Given the description of an element on the screen output the (x, y) to click on. 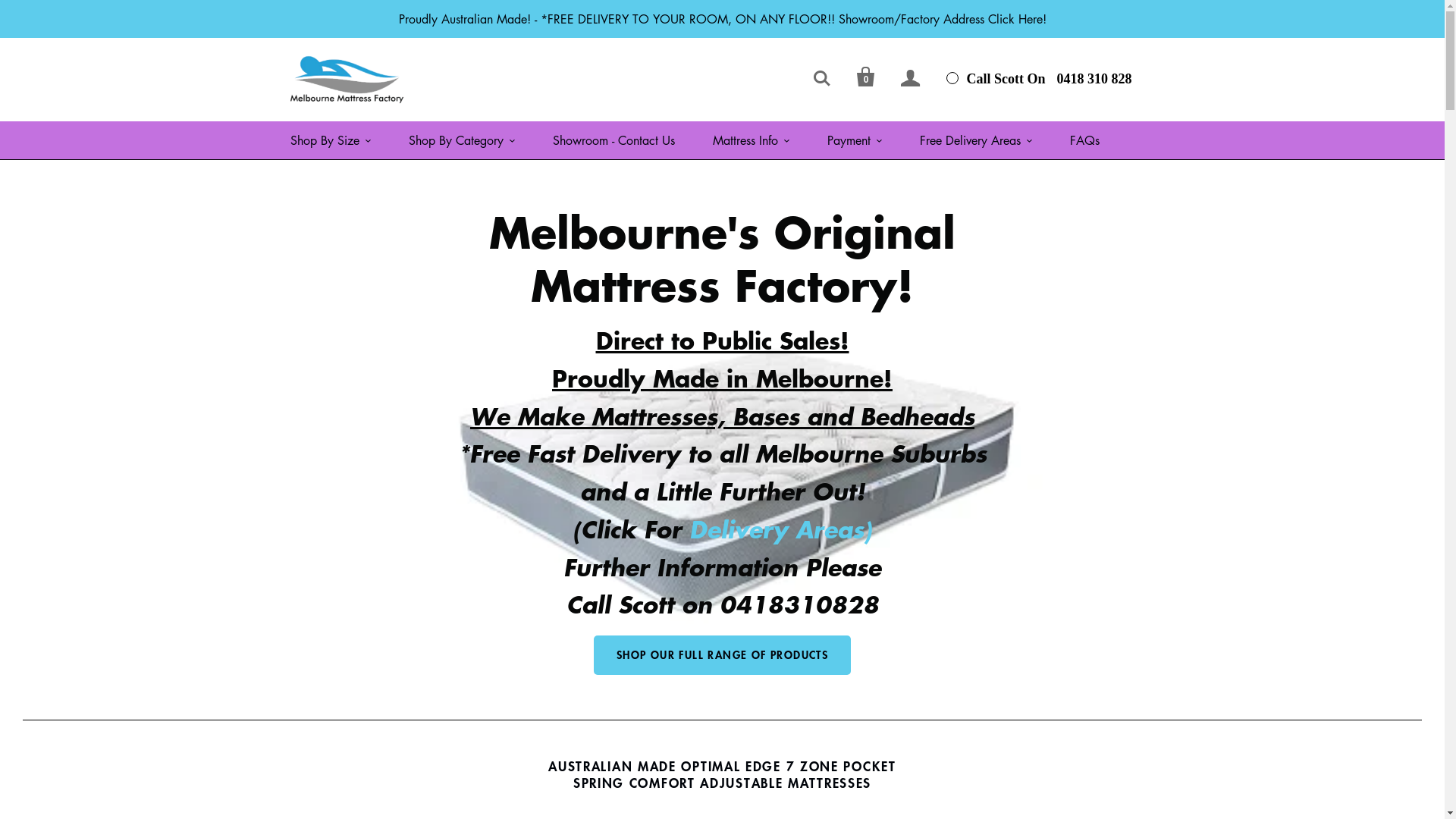
Payment Element type: text (853, 140)
0418 310 828 Element type: text (1093, 77)
Shop By Size Element type: text (329, 140)
FAQs Element type: text (1083, 139)
Delivery Areas) Element type: text (780, 529)
Mattress Info Element type: text (750, 140)
SHOP OUR FULL RANGE OF PRODUCTS Element type: text (721, 654)
Shop By Category Element type: text (460, 140)
Free Delivery Areas Element type: text (975, 140)
Showroom - Contact Us Element type: text (613, 139)
